Given the description of an element on the screen output the (x, y) to click on. 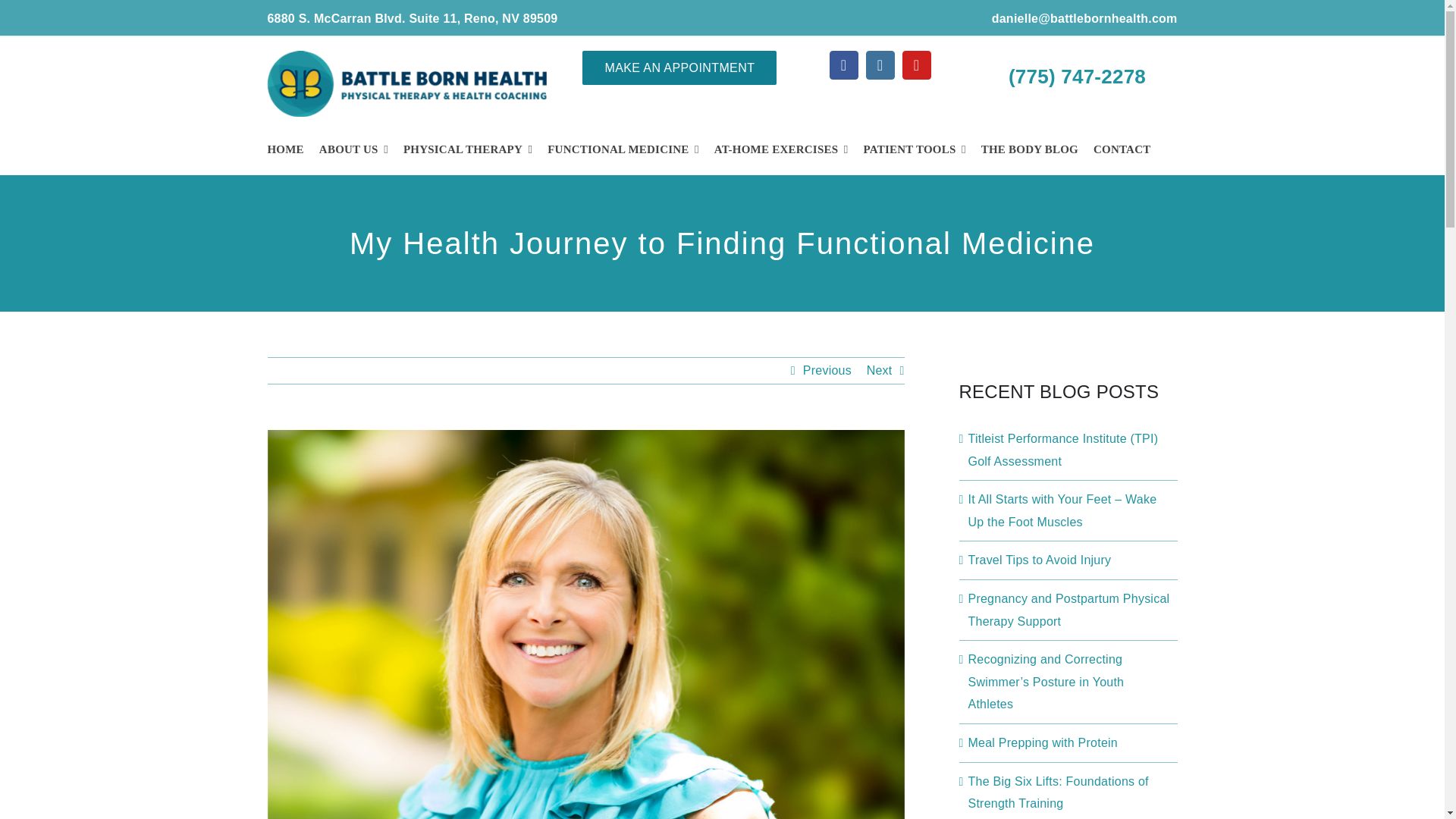
PHYSICAL THERAPY (467, 149)
FUNCTIONAL MEDICINE (622, 149)
MAKE AN APPOINTMENT (679, 67)
HOME (284, 149)
ABOUT US (353, 149)
AT-HOME EXERCISES (781, 149)
6880 S. McCarran Blvd. Suite 11, Reno, NV 89509 (411, 18)
